Given the description of an element on the screen output the (x, y) to click on. 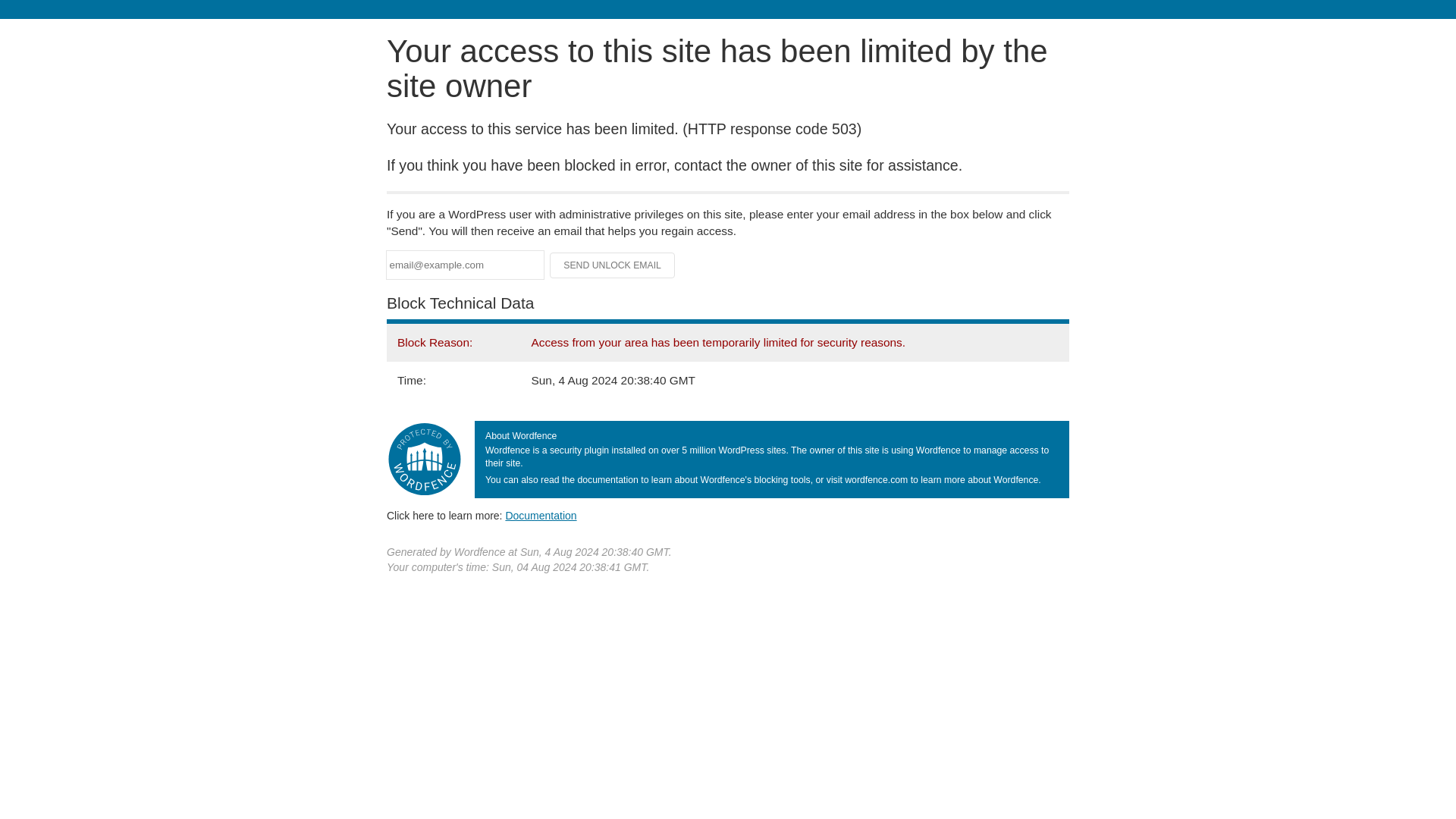
Documentation (540, 515)
Send Unlock Email (612, 265)
Send Unlock Email (612, 265)
